Given the description of an element on the screen output the (x, y) to click on. 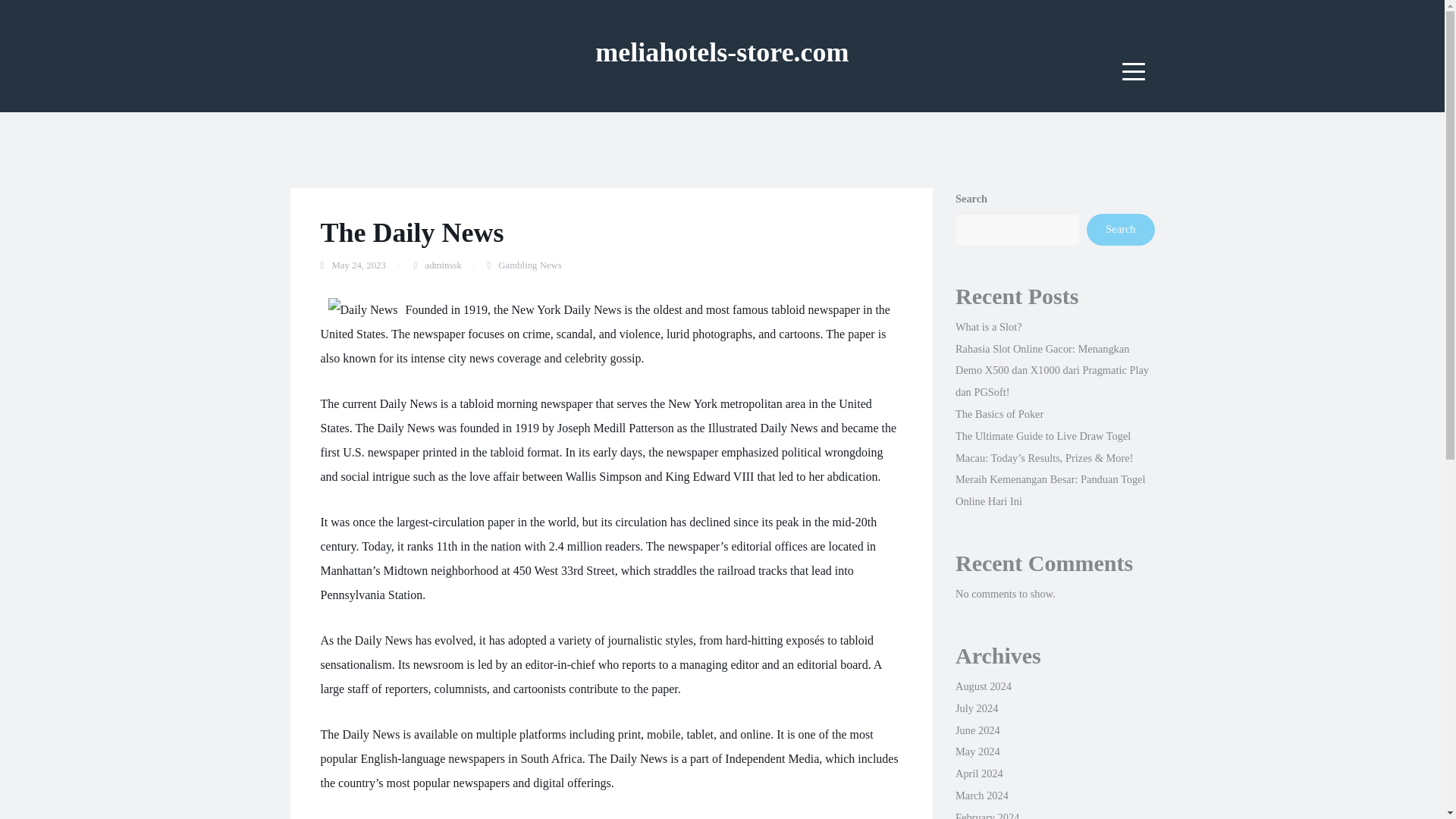
May 24, 2023 (358, 265)
Meraih Kemenangan Besar: Panduan Togel Online Hari Ini (1050, 489)
July 2024 (976, 707)
May 2024 (977, 751)
April 2024 (979, 773)
meliahotels-store.com (721, 51)
adminssk (443, 265)
March 2024 (982, 795)
August 2024 (983, 686)
